Given the description of an element on the screen output the (x, y) to click on. 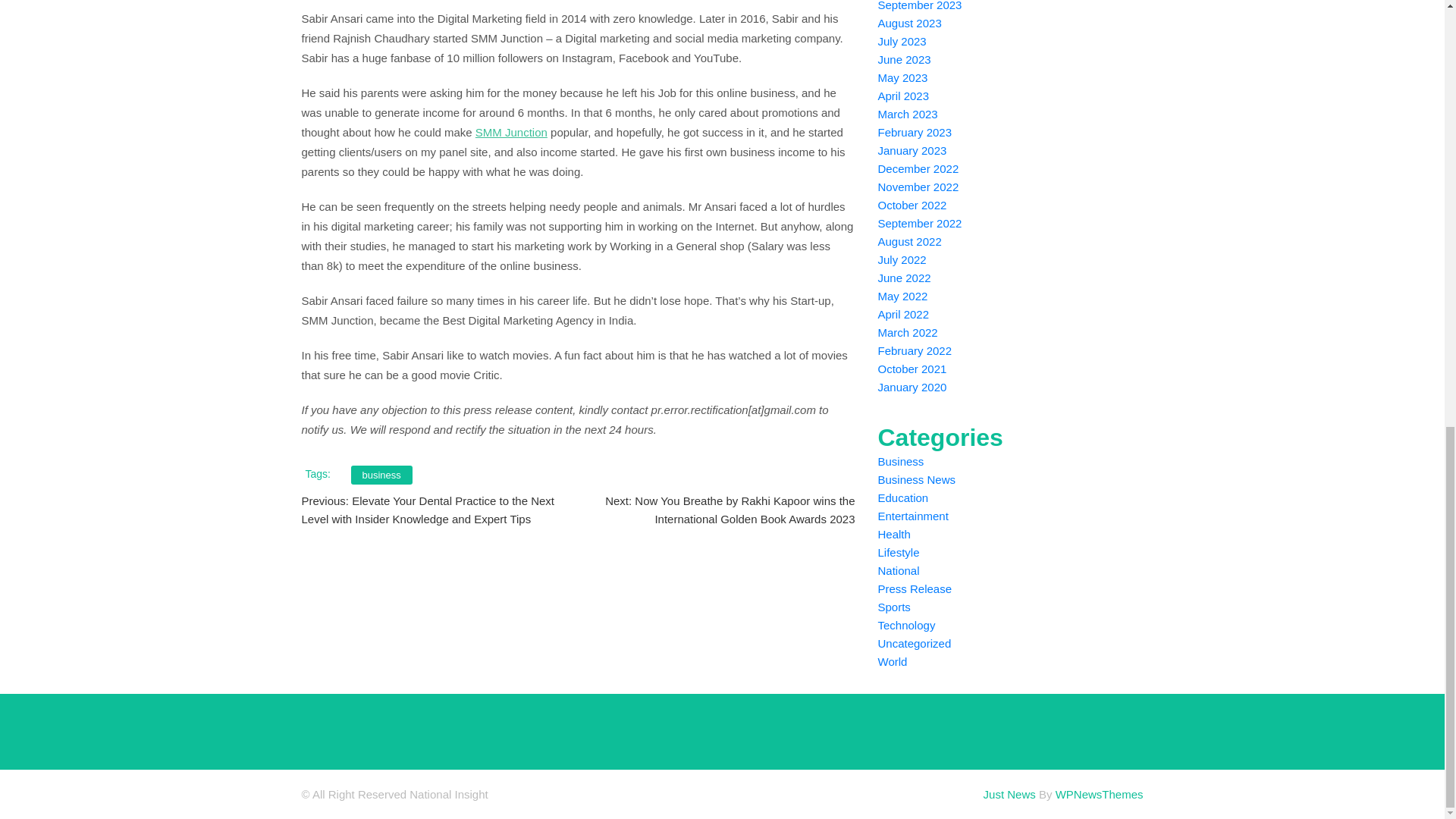
business (381, 475)
SMM Junction (511, 132)
